Given the description of an element on the screen output the (x, y) to click on. 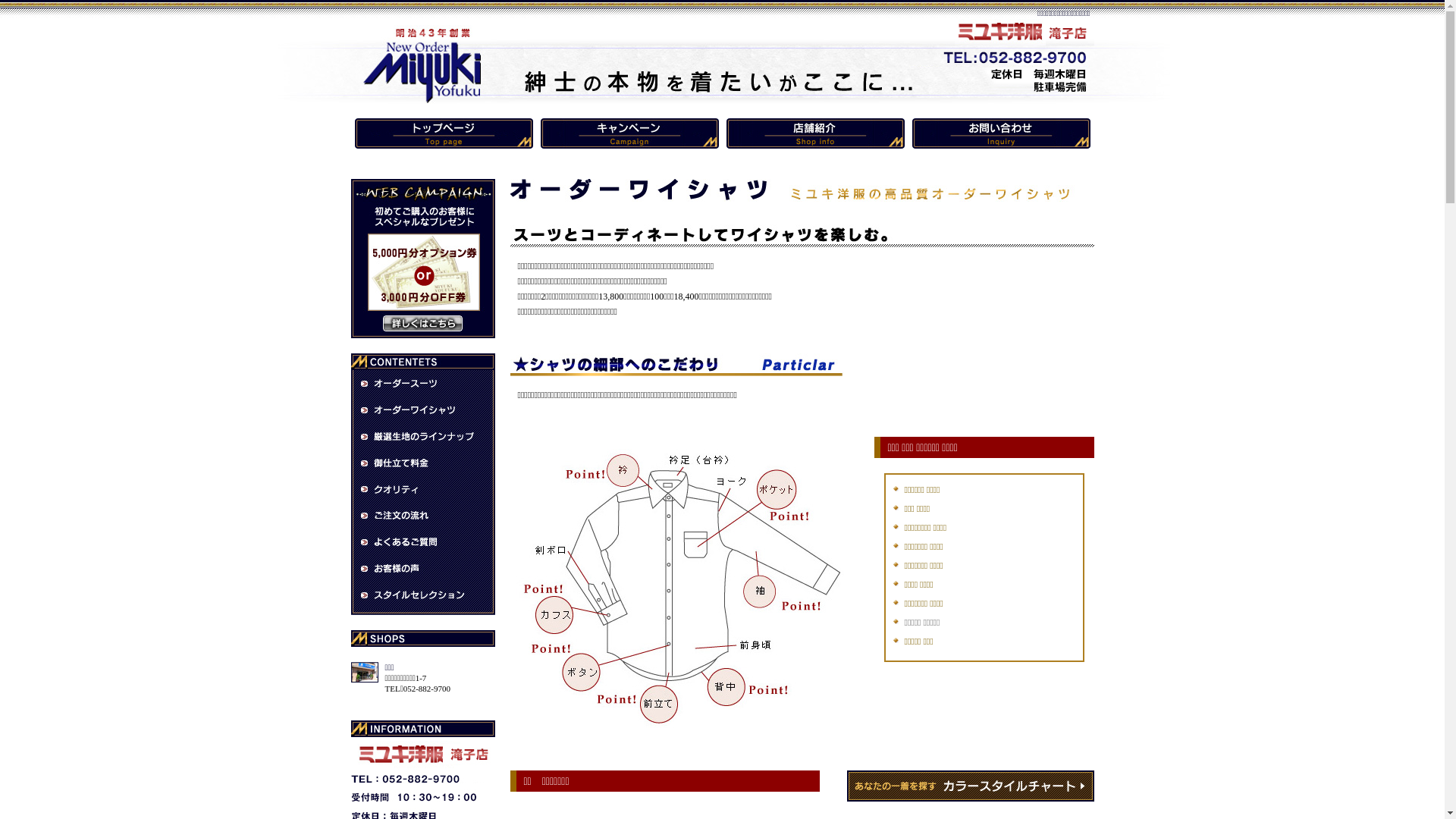
Q&A Element type: text (422, 542)
